Given the description of an element on the screen output the (x, y) to click on. 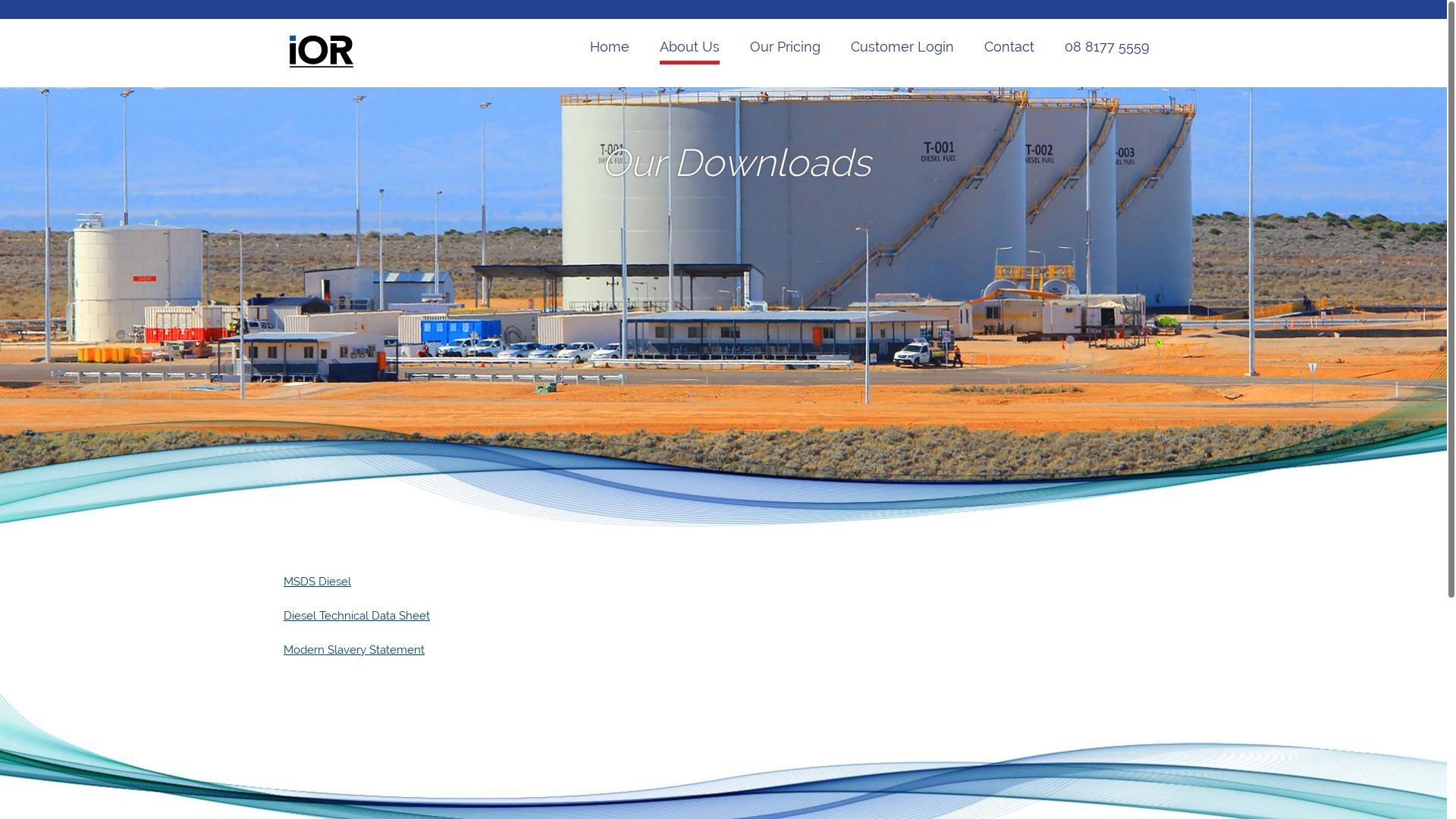
Our Pricing Element type: text (784, 48)
About Us Element type: text (689, 48)
MSDS Diesel Element type: text (317, 581)
IOR Terminals Element type: hover (321, 66)
Contact Element type: text (1009, 48)
Home Element type: text (609, 48)
Modern Slavery Statement Element type: text (353, 649)
Diesel Technical Data Sheet Element type: text (356, 615)
08 8177 5559 Element type: text (1106, 48)
Customer Login Element type: text (901, 48)
